Given the description of an element on the screen output the (x, y) to click on. 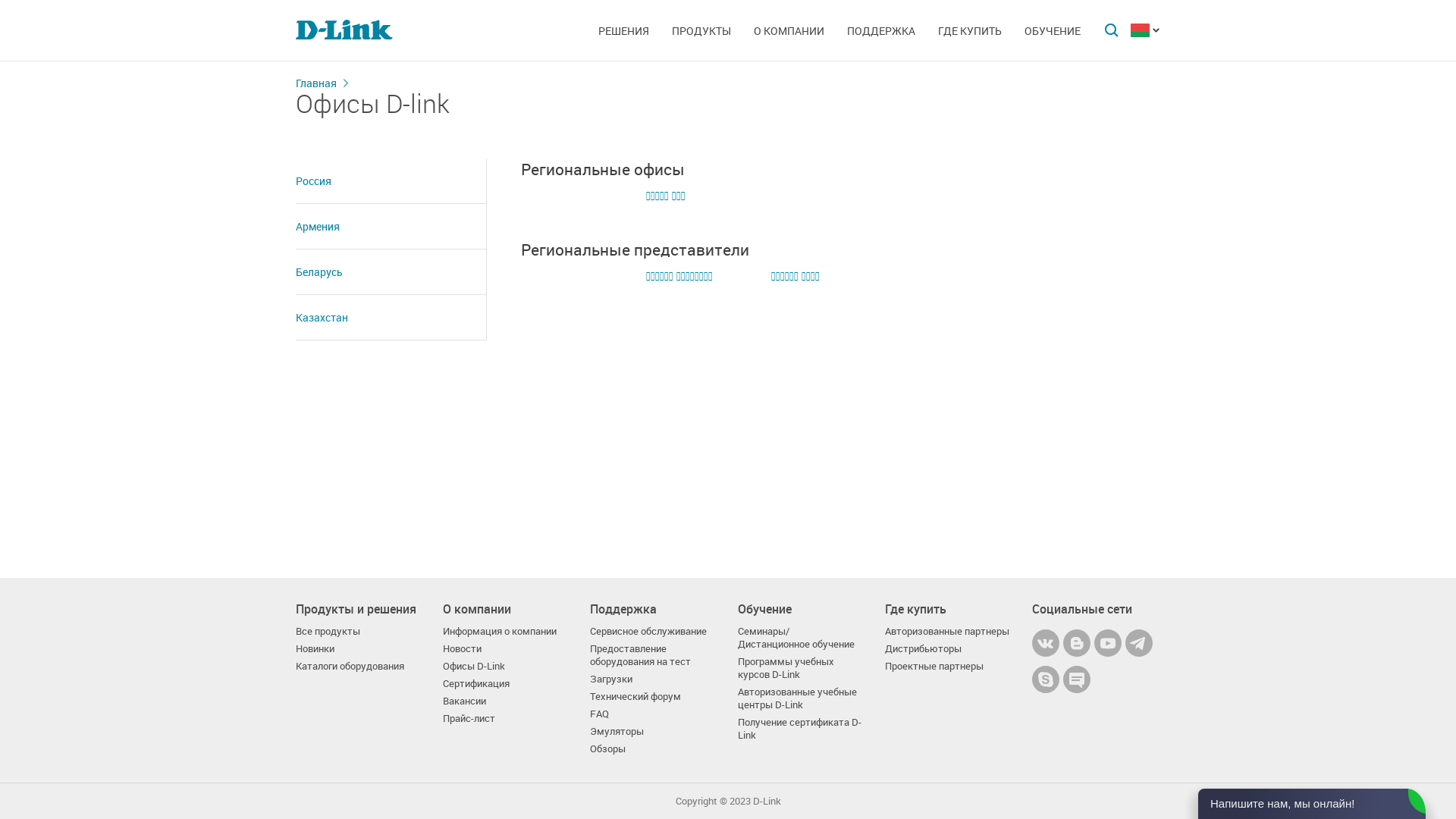
D-Link Element type: text (766, 800)
FAQ Element type: text (598, 713)
